Given the description of an element on the screen output the (x, y) to click on. 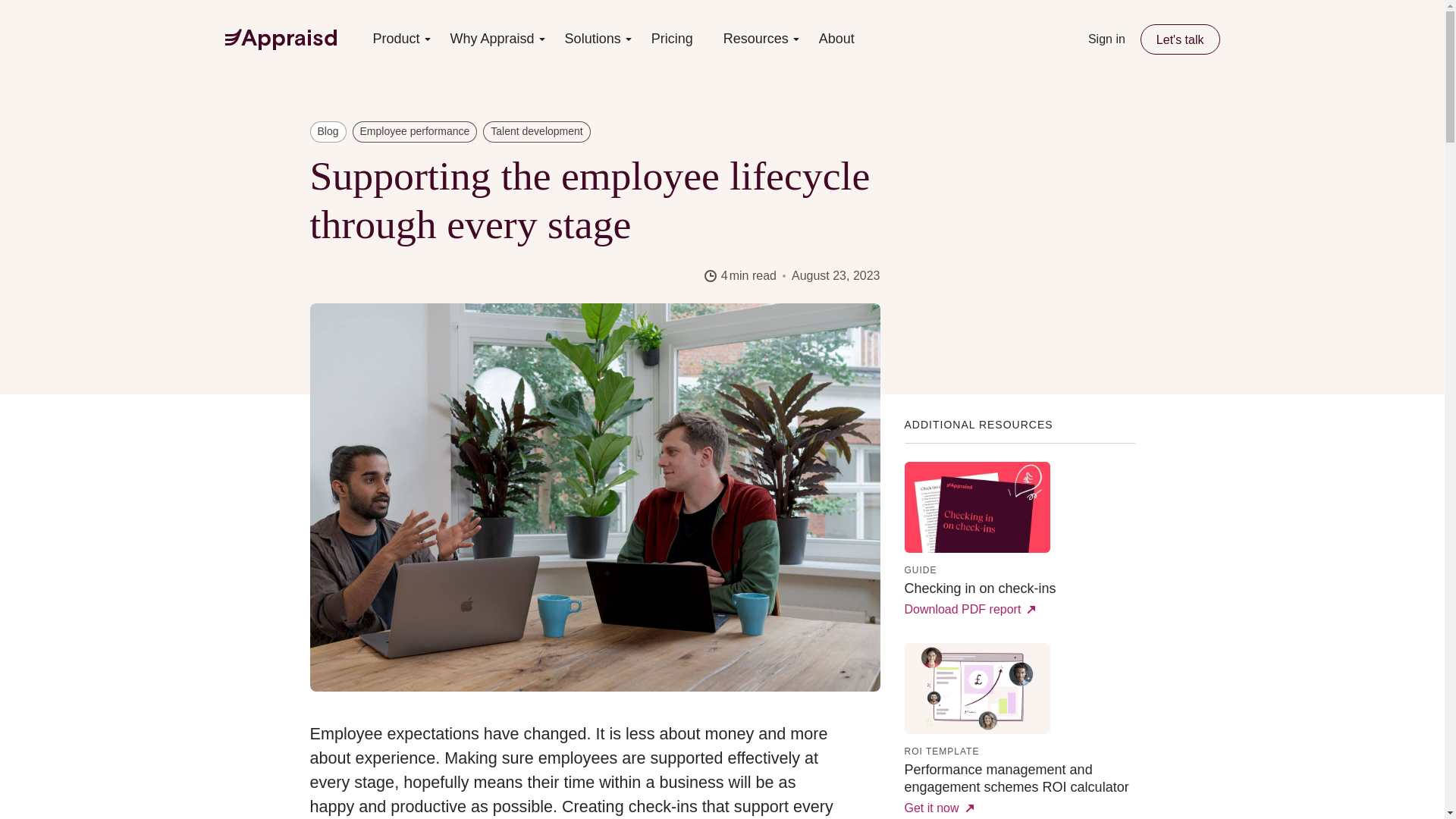
Clock icon (710, 275)
Logo Appraisd (280, 38)
Pricing (671, 39)
Logo Appraisd (280, 38)
